Given the description of an element on the screen output the (x, y) to click on. 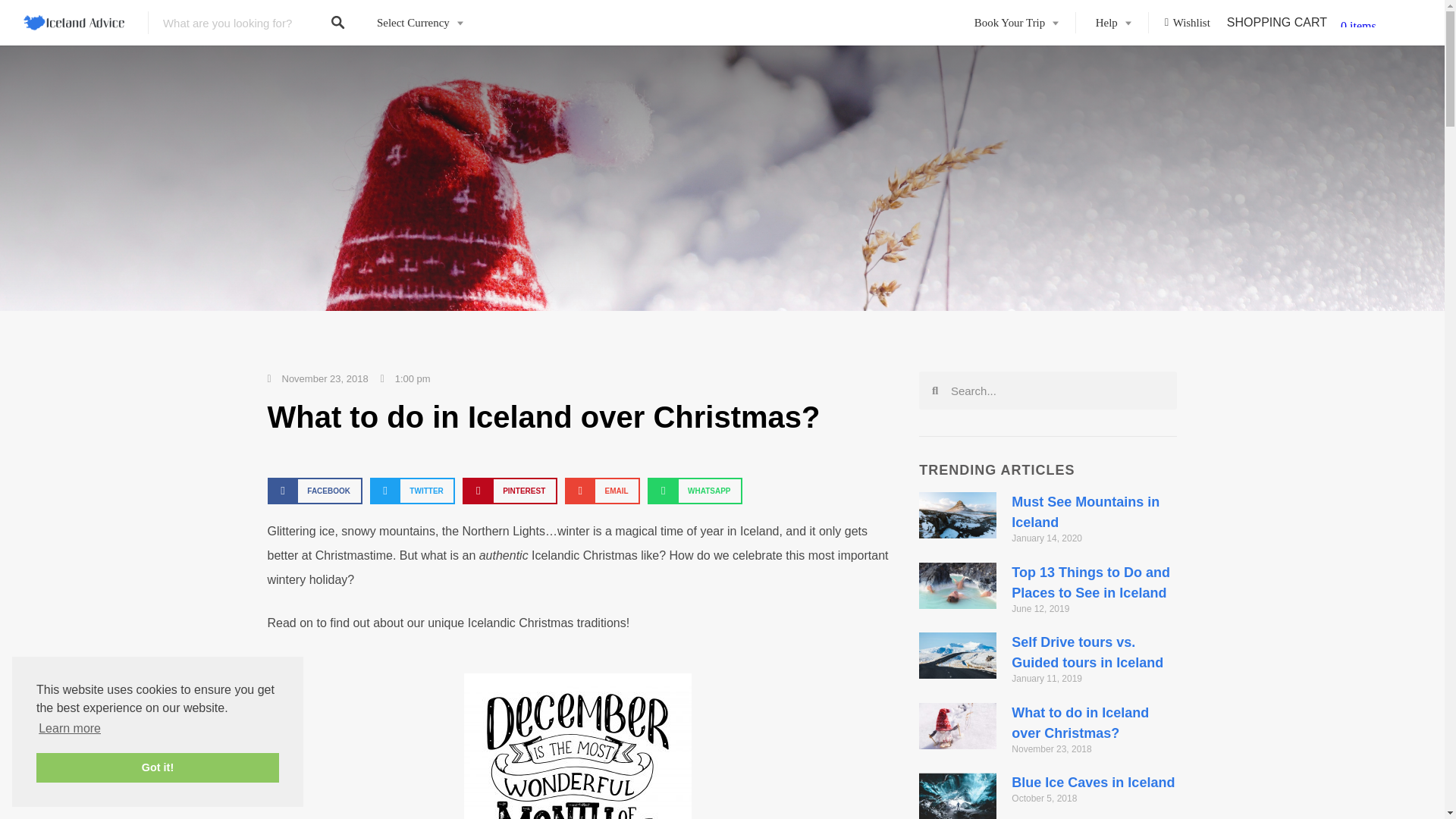
Wishlist (1187, 22)
Learn more (69, 728)
Got it! (157, 767)
Select Currency (419, 22)
Search (1056, 390)
SHOPPING CART (1276, 21)
Help (1111, 22)
Book Your Trip (1014, 22)
